Given the description of an element on the screen output the (x, y) to click on. 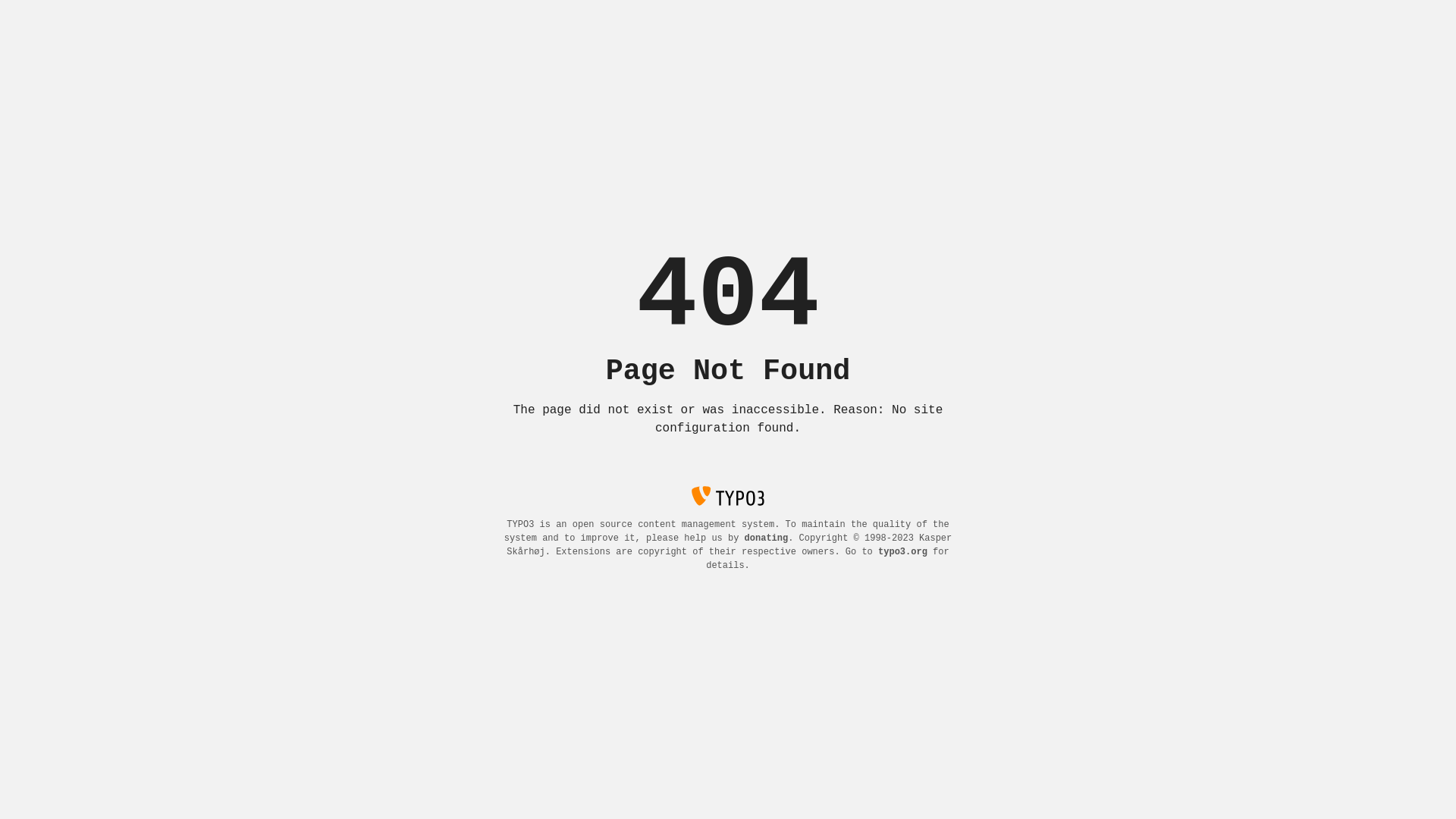
typo3.org Element type: text (902, 551)
donating Element type: text (766, 538)
